Given the description of an element on the screen output the (x, y) to click on. 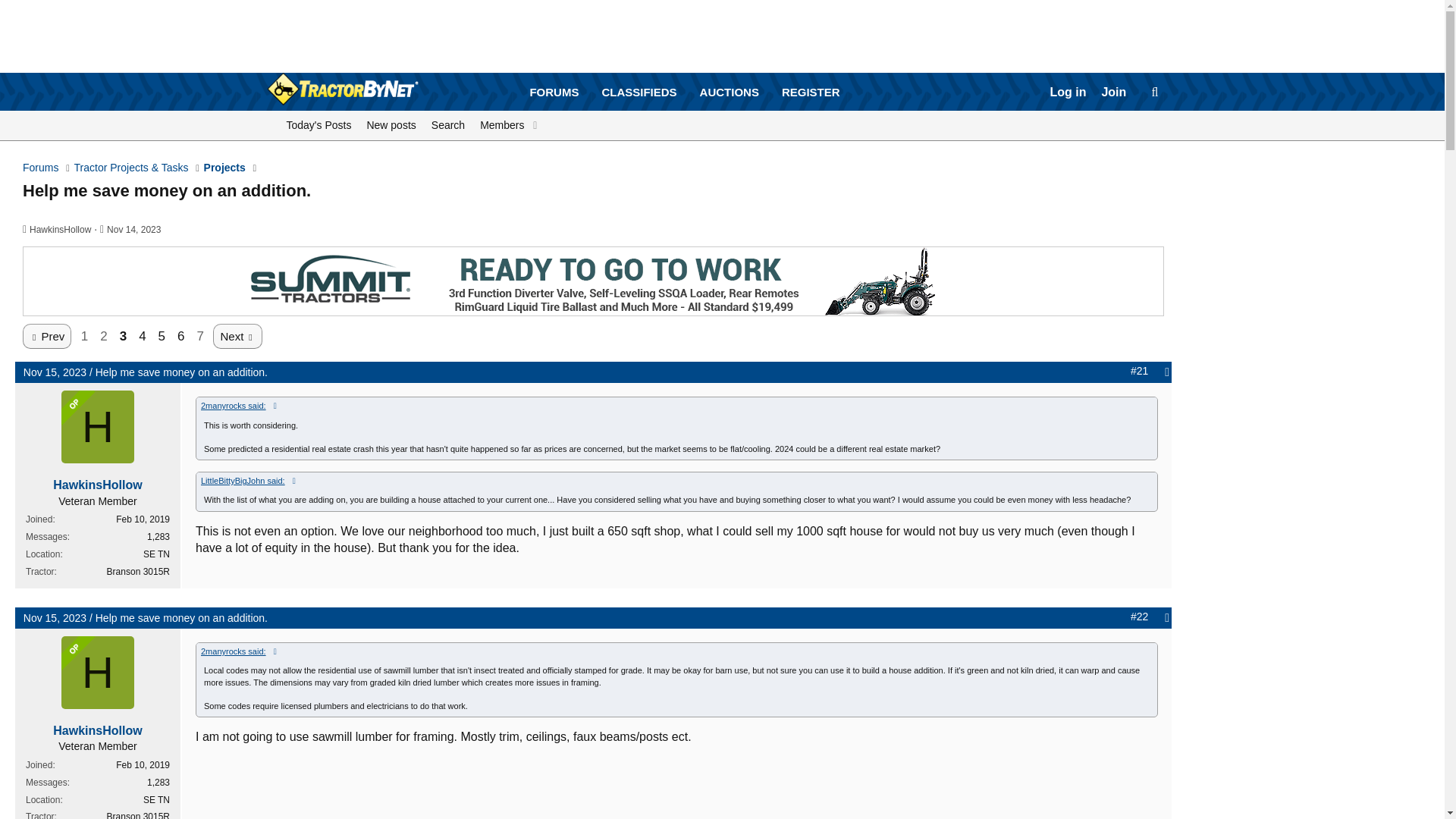
FORUMS (553, 91)
Nov 14, 2023 at 8:23 PM (133, 229)
Search (447, 125)
Members (498, 125)
AUCTIONS (729, 91)
Projects (224, 167)
Join (1113, 92)
Log in (1067, 92)
Forums (40, 167)
